Given the description of an element on the screen output the (x, y) to click on. 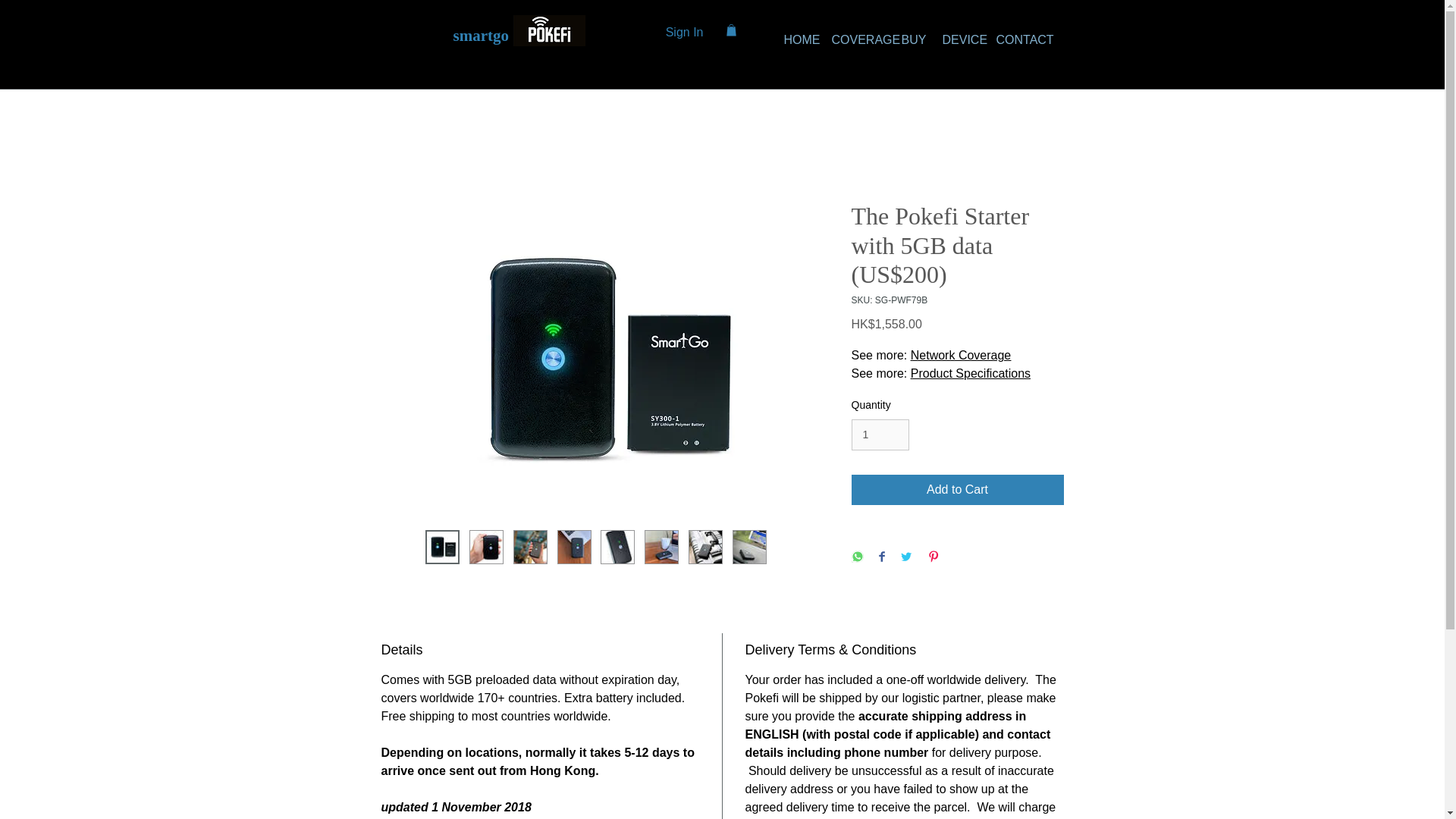
CONTACT (1015, 39)
DEVICE (958, 39)
BUY (910, 39)
Add to Cart (956, 490)
COVERAGE (855, 39)
Sign In (684, 32)
HOME (795, 39)
Product Specifications (970, 373)
Network Coverage (961, 354)
1 (879, 434)
